Given the description of an element on the screen output the (x, y) to click on. 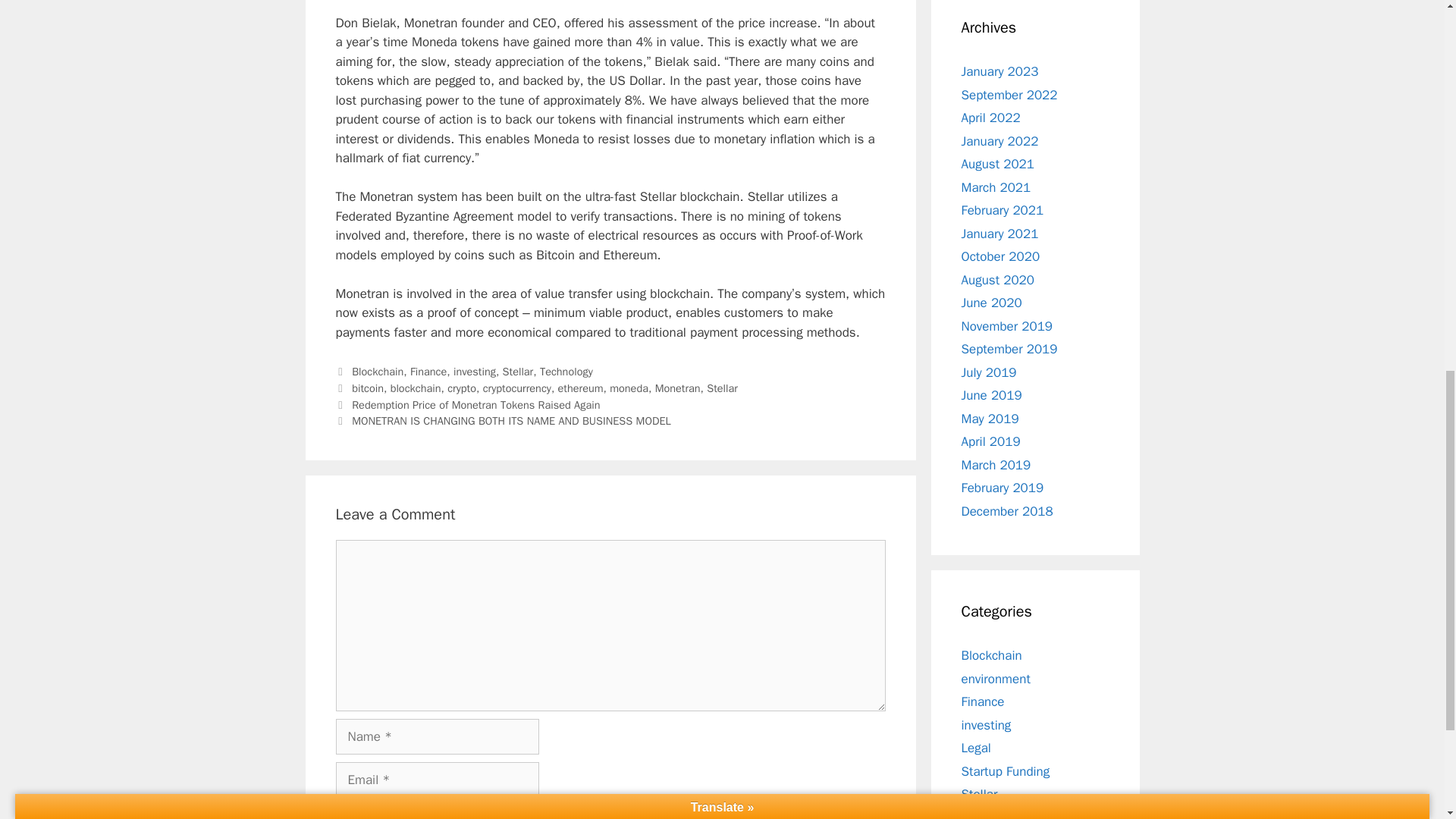
bitcoin (368, 387)
January 2023 (999, 71)
moneda (628, 387)
ethereum (580, 387)
cryptocurrency (517, 387)
Redemption Price of Monetran Tokens Raised Again (475, 404)
MONETRAN IS CHANGING BOTH ITS NAME AND BUSINESS MODEL (511, 420)
Stellar (518, 371)
Monetran (677, 387)
January 2022 (999, 141)
